Given the description of an element on the screen output the (x, y) to click on. 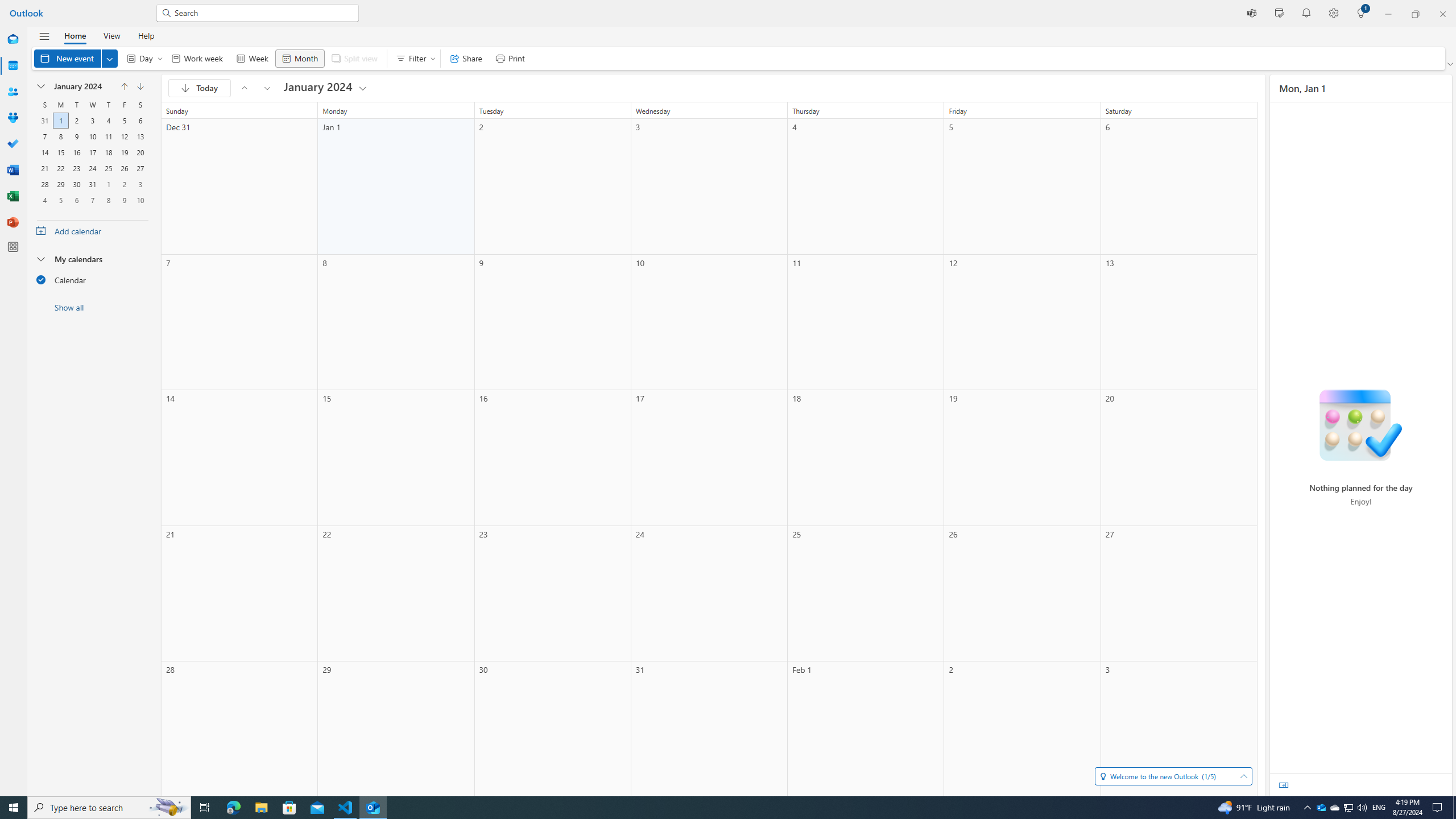
25, January, 2024 (108, 168)
13, January, 2024 (140, 136)
Date selector (41, 86)
27, January, 2024 (140, 168)
9, January, 2024 (75, 136)
Show all (92, 306)
Sunday (44, 104)
5, January, 2024 (124, 120)
12, January, 2024 (124, 136)
20, January, 2024 (140, 151)
7, January, 2024 (44, 136)
25, January, 2024 (108, 168)
10, January, 2024 (92, 136)
5, January, 2024 (124, 120)
